Given the description of an element on the screen output the (x, y) to click on. 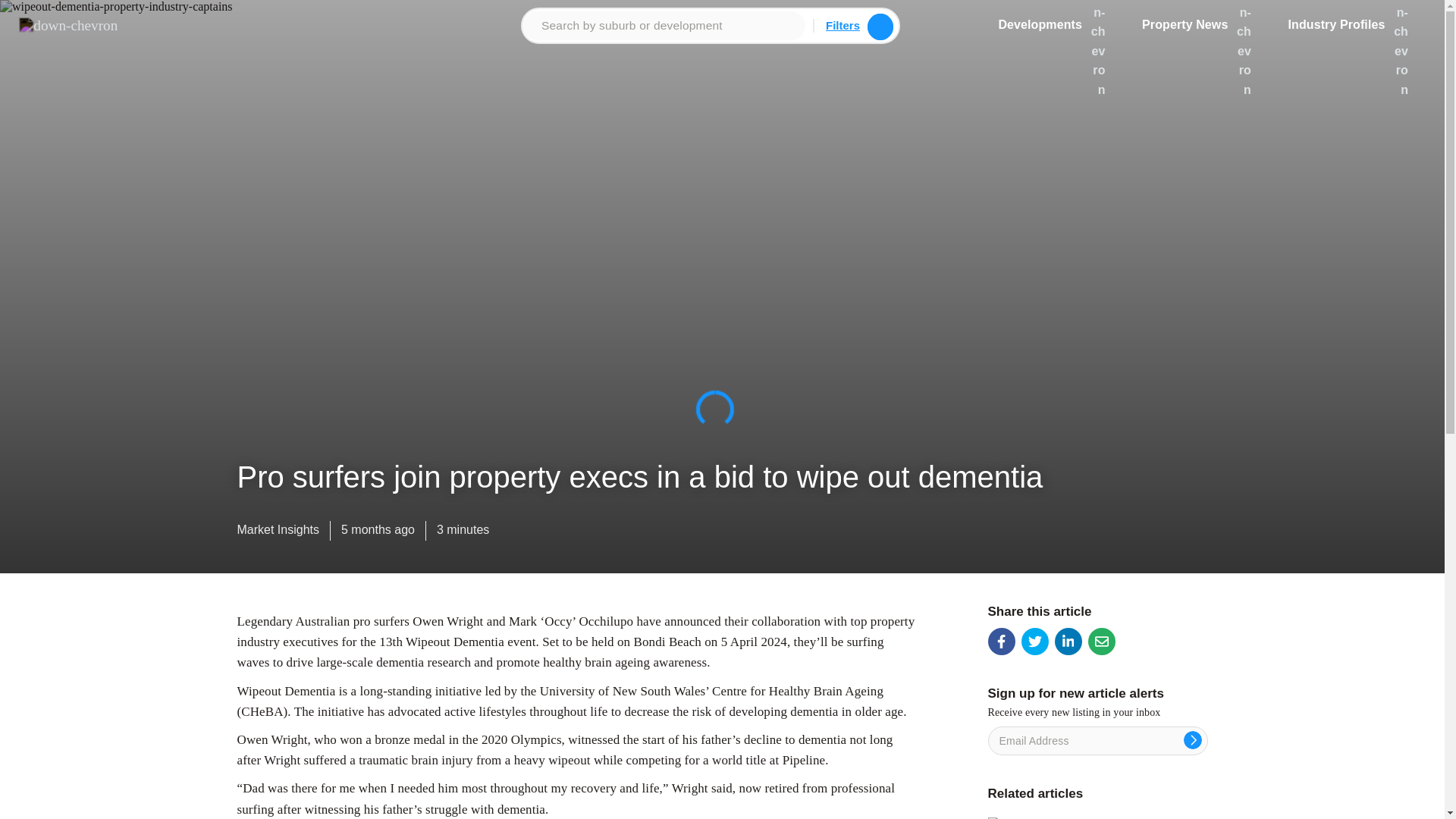
Filters (842, 24)
Market Insights (276, 532)
